Given the description of an element on the screen output the (x, y) to click on. 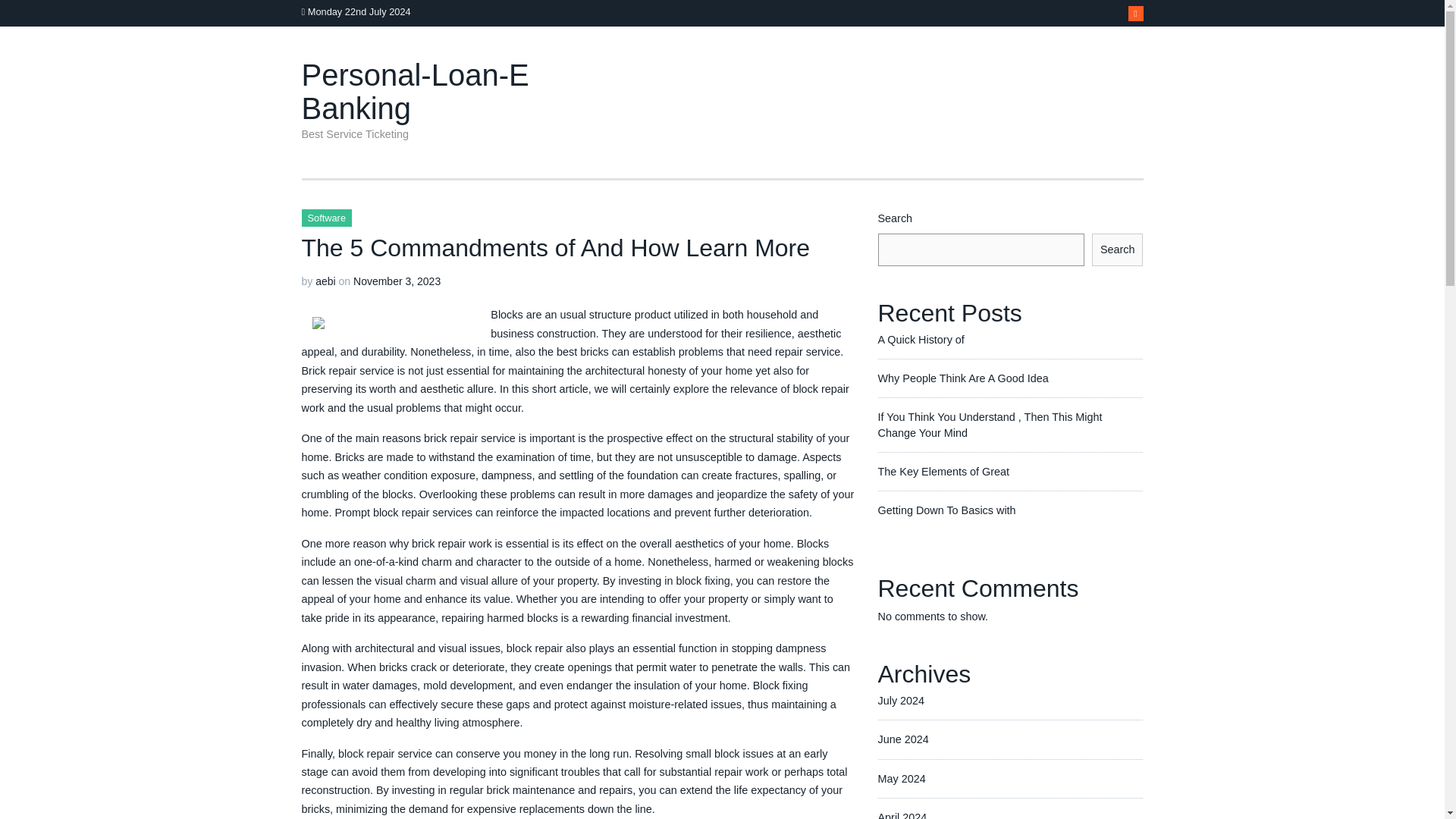
Search (1117, 249)
July 2024 (900, 700)
April 2024 (902, 815)
June 2024 (902, 739)
Software (326, 217)
Why People Think Are A Good Idea (962, 378)
A Quick History of (920, 339)
May 2024 (901, 778)
Personal-Loan-E Banking (415, 91)
November 3, 2023 (397, 281)
Getting Down To Basics with (946, 510)
aebi (324, 281)
The Key Elements of Great (943, 471)
Personal-Loan-E Banking (415, 91)
